Given the description of an element on the screen output the (x, y) to click on. 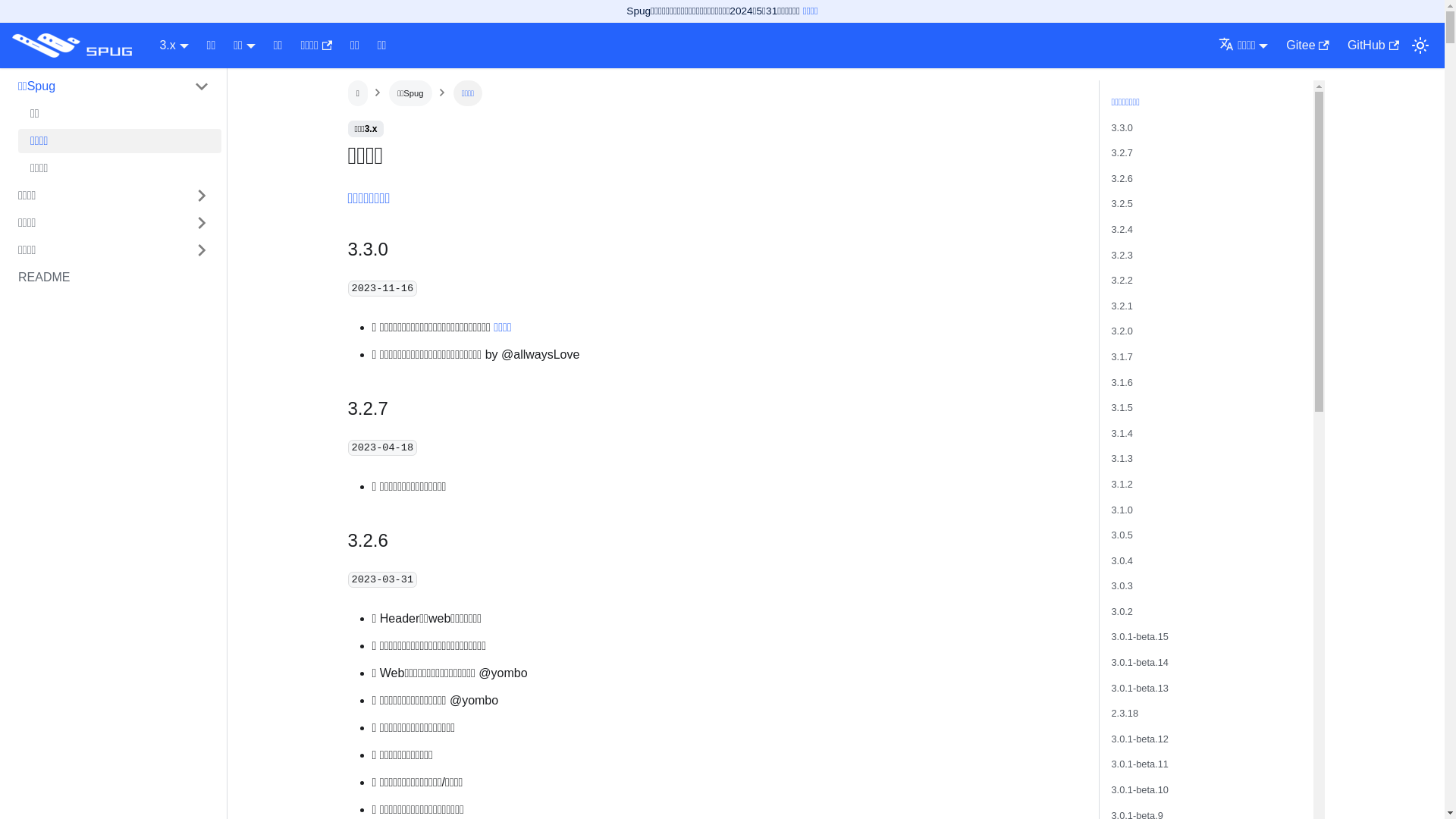
3.0.1-beta.15 Element type: text (1139, 636)
3.0.4 Element type: text (1121, 560)
3.2.5 Element type: text (1121, 203)
3.0.1-beta.14 Element type: text (1139, 662)
3.0.1-beta.10 Element type: text (1139, 789)
3.1.2 Element type: text (1121, 483)
3.x Element type: text (173, 44)
3.0.3 Element type: text (1121, 585)
3.0.2 Element type: text (1121, 611)
GitHub Element type: text (1373, 45)
3.2.0 Element type: text (1121, 330)
3.0.5 Element type: text (1121, 534)
3.2.3 Element type: text (1121, 254)
3.1.3 Element type: text (1121, 458)
3.1.7 Element type: text (1121, 356)
Gitee Element type: text (1307, 45)
2.3.18 Element type: text (1125, 712)
3.0.1-beta.12 Element type: text (1139, 738)
3.0.1-beta.13 Element type: text (1139, 687)
3.2.6 Element type: text (1121, 178)
3.1.0 Element type: text (1121, 508)
3.2.4 Element type: text (1121, 229)
3.0.1-beta.11 Element type: text (1139, 763)
3.1.5 Element type: text (1121, 407)
3.2.1 Element type: text (1121, 305)
3.2.7 Element type: text (1121, 152)
3.1.6 Element type: text (1121, 382)
3.2.2 Element type: text (1121, 279)
3.1.4 Element type: text (1121, 433)
README Element type: text (113, 277)
3.3.0 Element type: text (1121, 127)
